Given the description of an element on the screen output the (x, y) to click on. 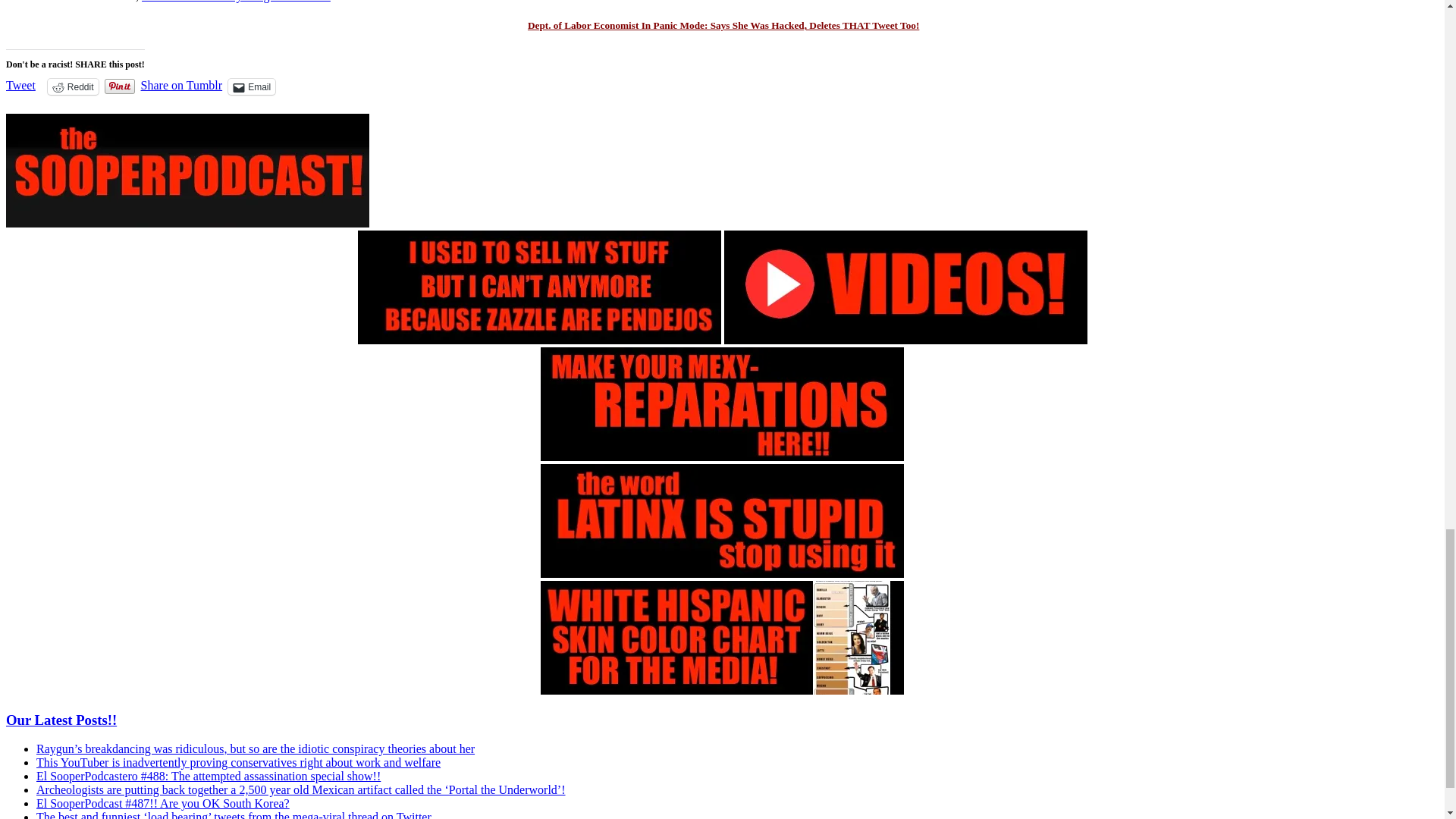
Click to email a link to a friend (251, 86)
Click to share on Reddit (73, 86)
Share on Tumblr (181, 85)
Email (251, 86)
Share on Tumblr (181, 85)
Tweet (19, 85)
Reddit (73, 86)
but CAUTION! Gay images abound!!! (235, 1)
